Given the description of an element on the screen output the (x, y) to click on. 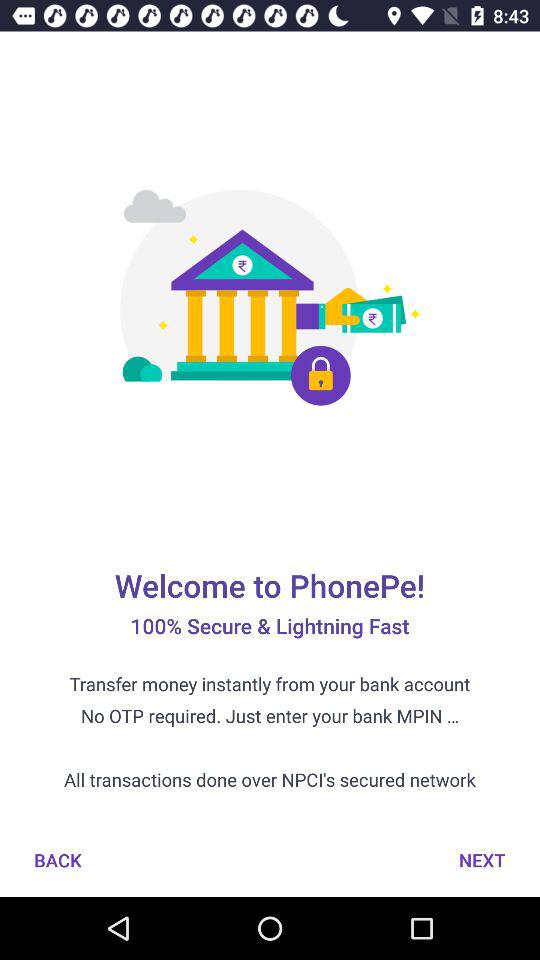
turn off item below the transfer money instantly icon (482, 859)
